Given the description of an element on the screen output the (x, y) to click on. 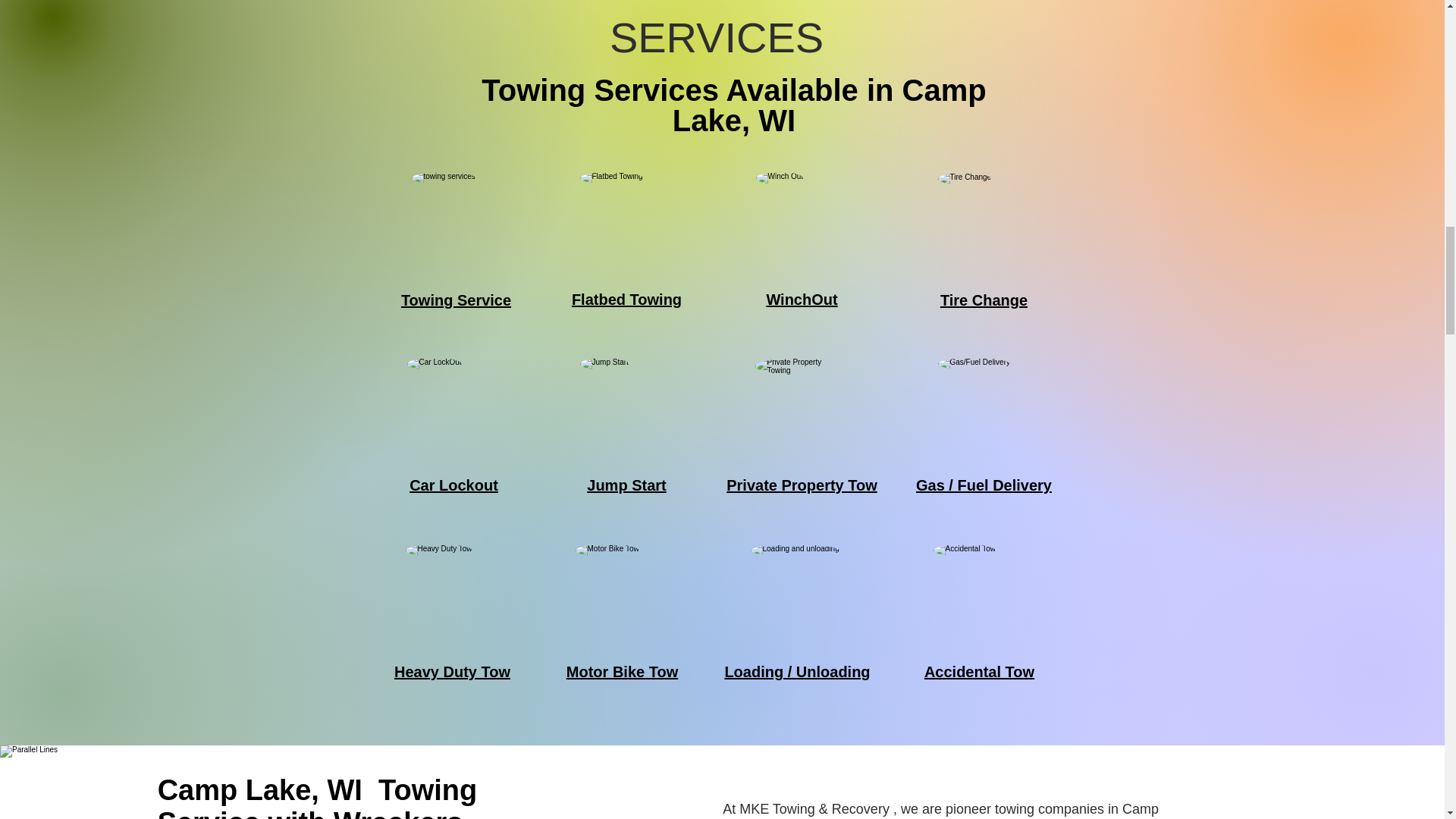
private property Towing service available Cudahy WI (801, 403)
loading and unloading service available Cudahy WI (797, 590)
Tire Change (983, 299)
Flatbed Towing (626, 299)
Towing service available Cudahy WI (451, 403)
Motor Bike Tow (622, 671)
Accidental Towing service available Cudahy WI (979, 590)
Moter Bike Towing service available Cudahy WI (620, 590)
Heavy Duty Tow (452, 671)
Towing service available Cudahy WI (456, 217)
